Given the description of an element on the screen output the (x, y) to click on. 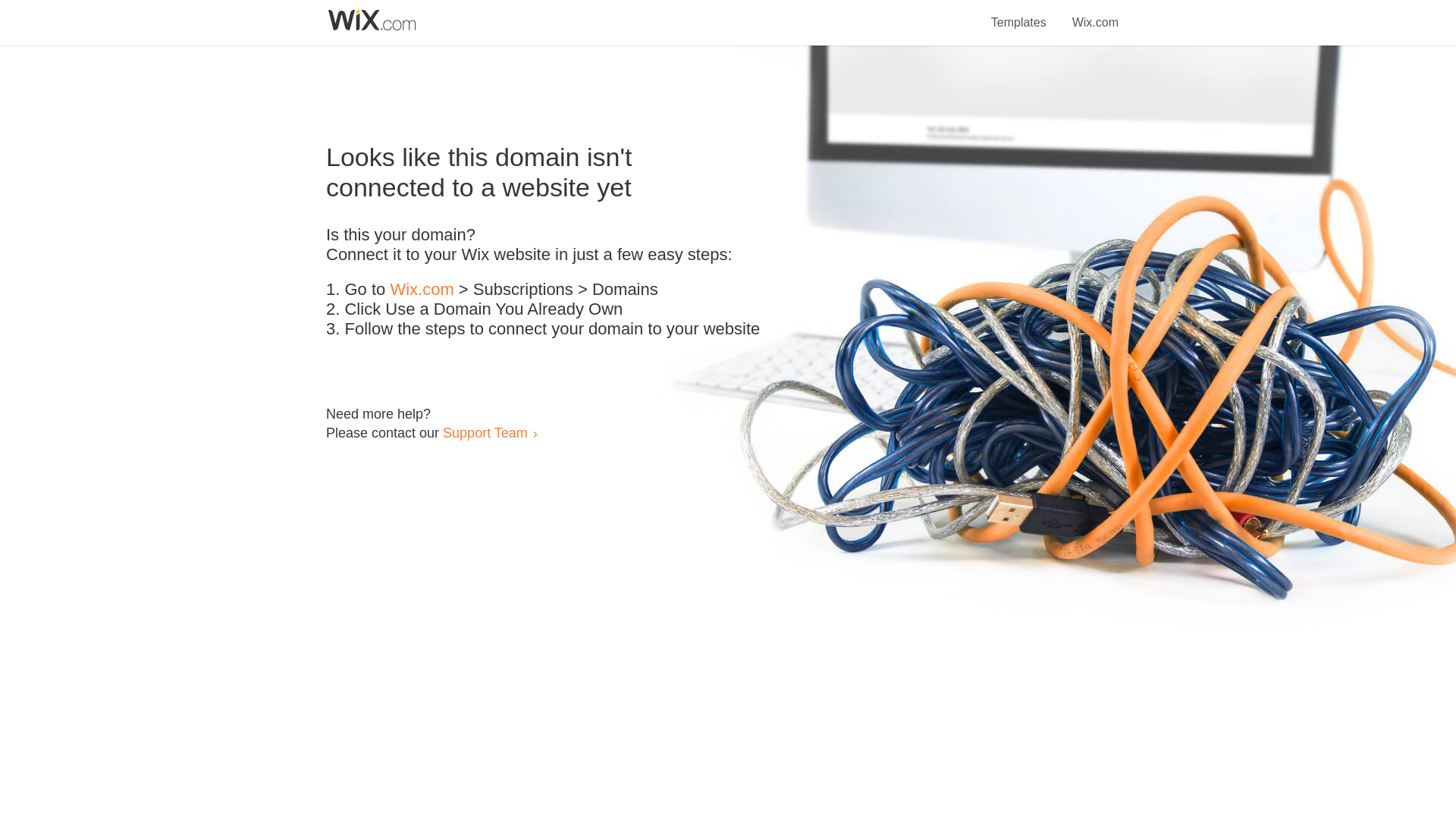
Wix.com (1095, 14)
Support Team (484, 432)
Wix.com (421, 289)
Templates (1018, 14)
